Given the description of an element on the screen output the (x, y) to click on. 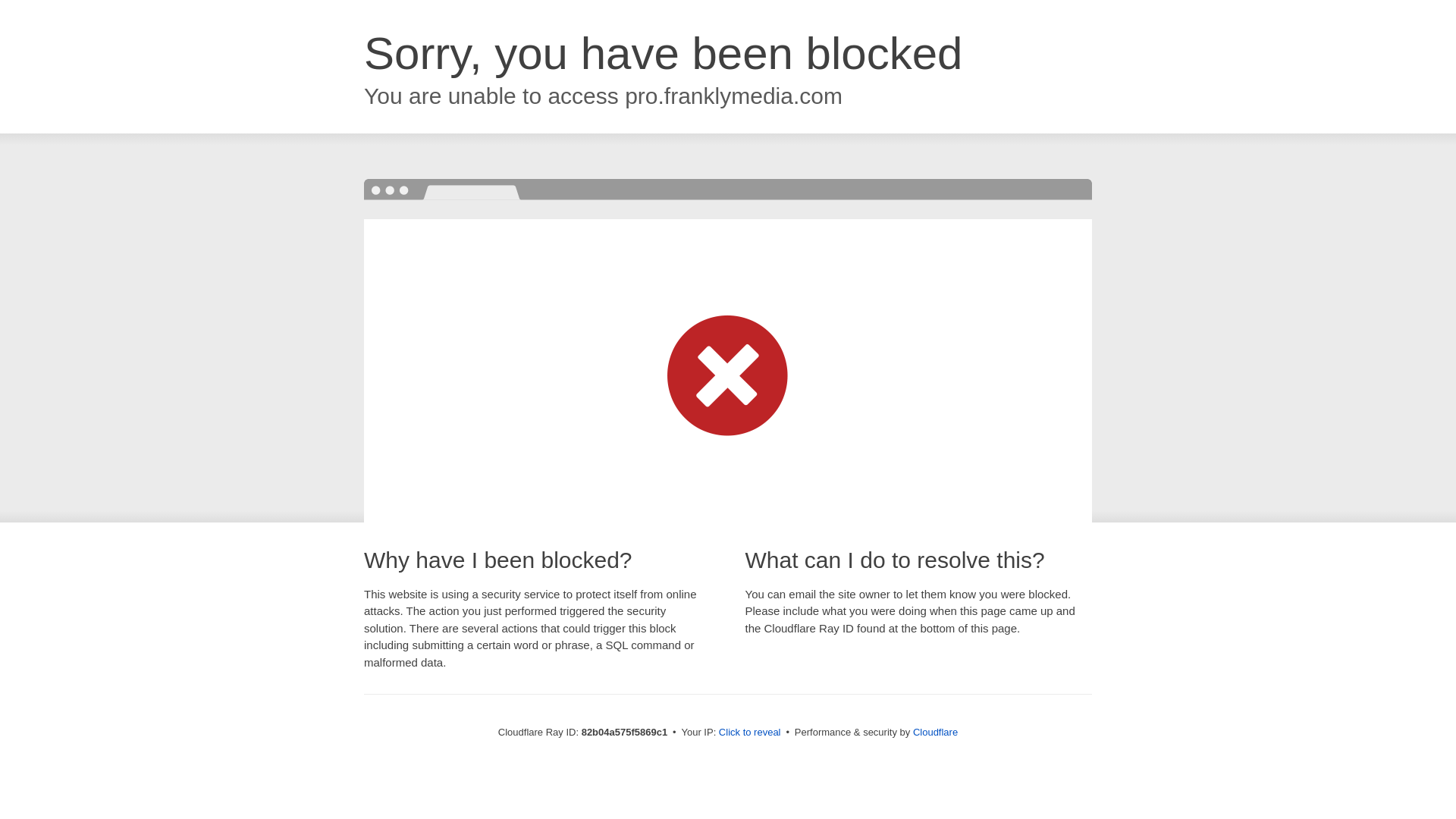
Click to reveal Element type: text (749, 732)
Cloudflare Element type: text (935, 731)
